Given the description of an element on the screen output the (x, y) to click on. 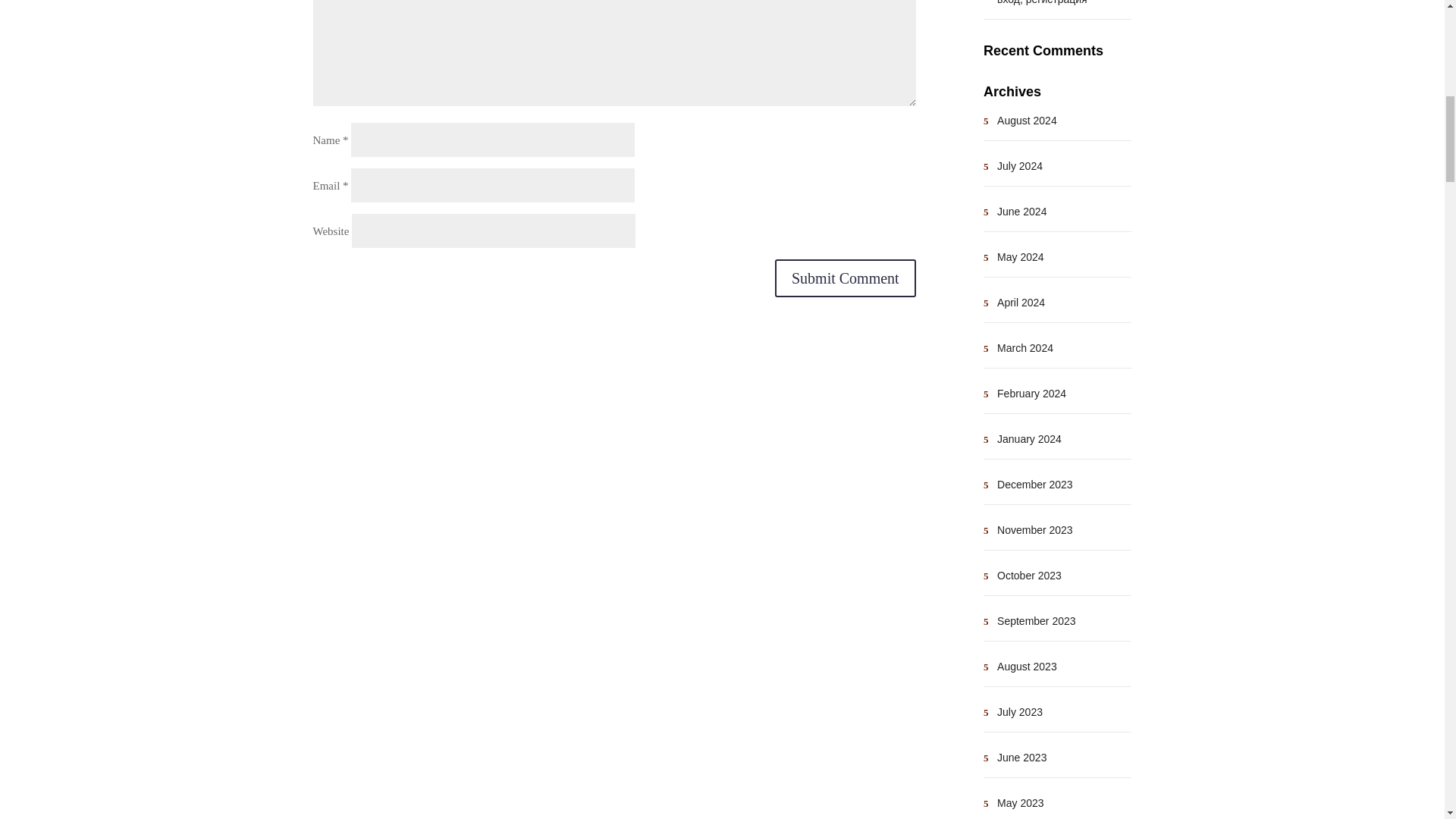
May 2023 (1020, 802)
July 2024 (1019, 165)
May 2024 (1020, 256)
October 2023 (1029, 575)
January 2024 (1029, 439)
December 2023 (1035, 484)
August 2023 (1027, 666)
August 2024 (1027, 120)
June 2023 (1021, 757)
February 2024 (1031, 393)
